Given the description of an element on the screen output the (x, y) to click on. 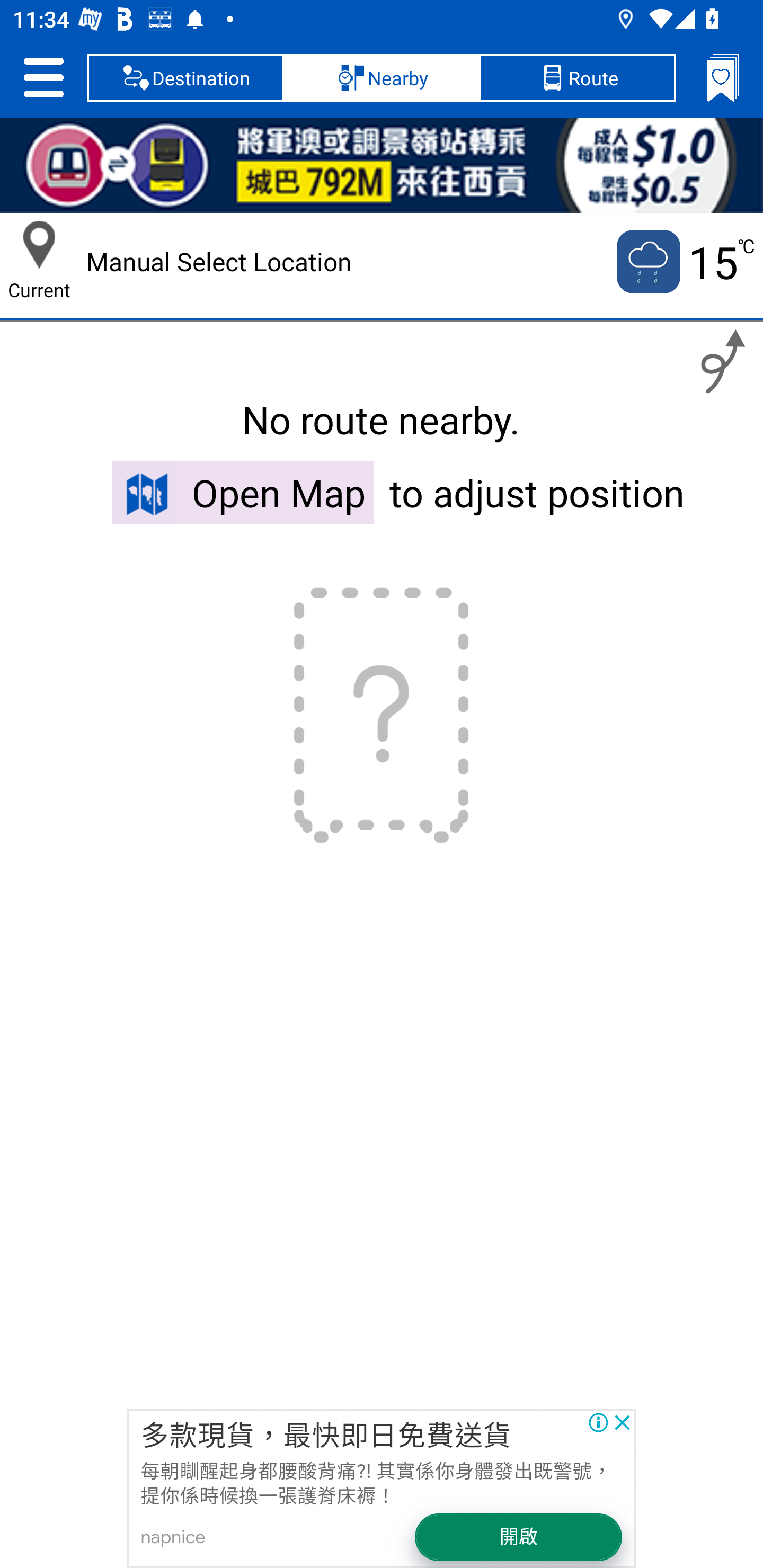
Destination (185, 77)
Nearby, selected (381, 77)
Route (577, 77)
Bookmarks (723, 77)
Setting (43, 77)
792M BRI (381, 165)
Current Location (38, 244)
Current temputure is  15  no 15 ℃ (684, 261)
Open Map (242, 491)
多款現貨，最快即日免費送貨 (325, 1437)
開啟 (519, 1537)
napnice (172, 1537)
